Given the description of an element on the screen output the (x, y) to click on. 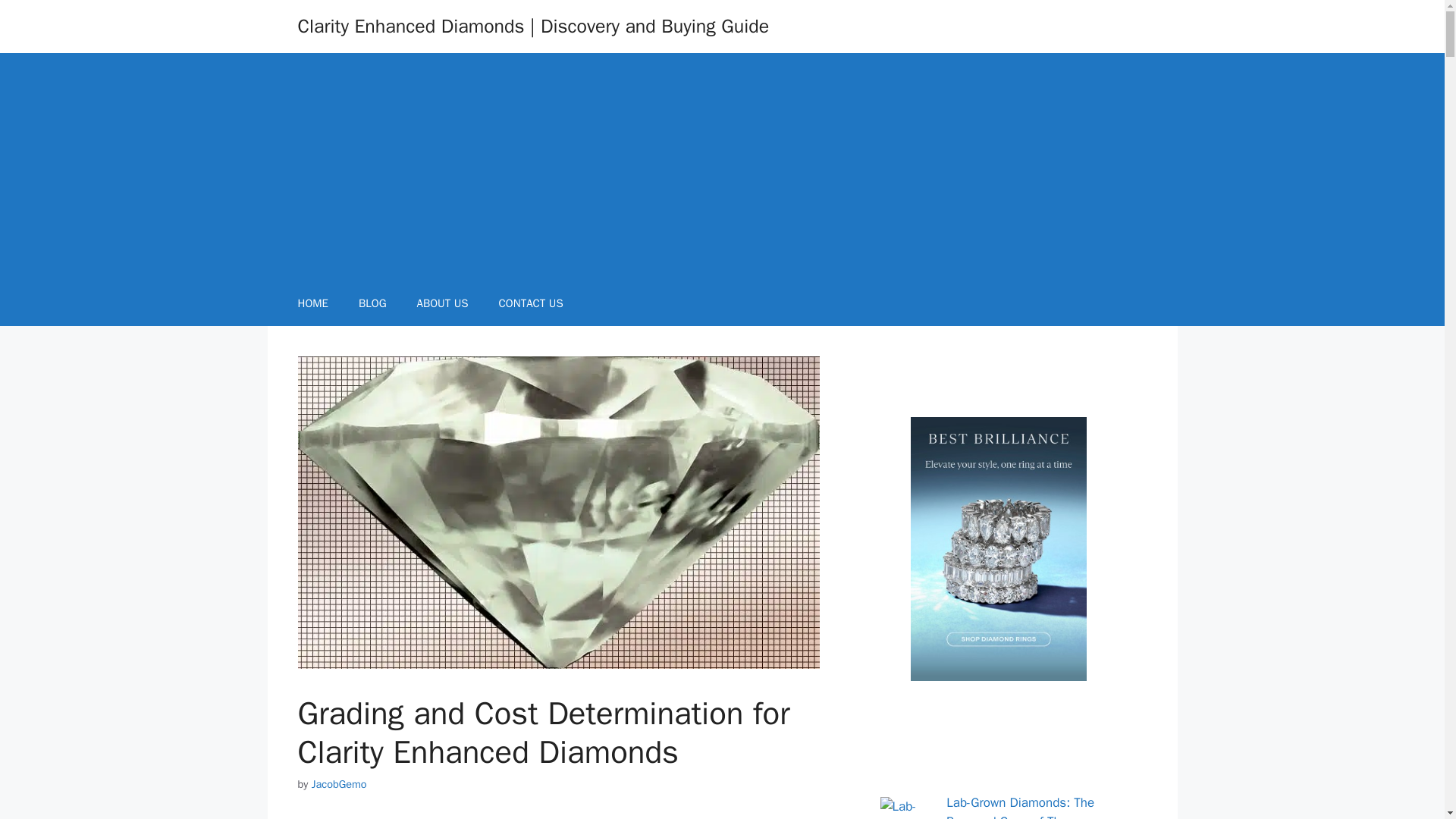
JacobGemo (338, 784)
Clarity Enhanced Diamonds Home (312, 302)
CONTACT US (530, 302)
Contact Us at ClarityEnhancedDiamonds.com (530, 302)
BLOG (372, 302)
About Us (442, 302)
HOME (312, 302)
ABOUT US (442, 302)
Clarity Enhanced Diamonds Blog (372, 302)
View all posts by JacobGemo (338, 784)
